Given the description of an element on the screen output the (x, y) to click on. 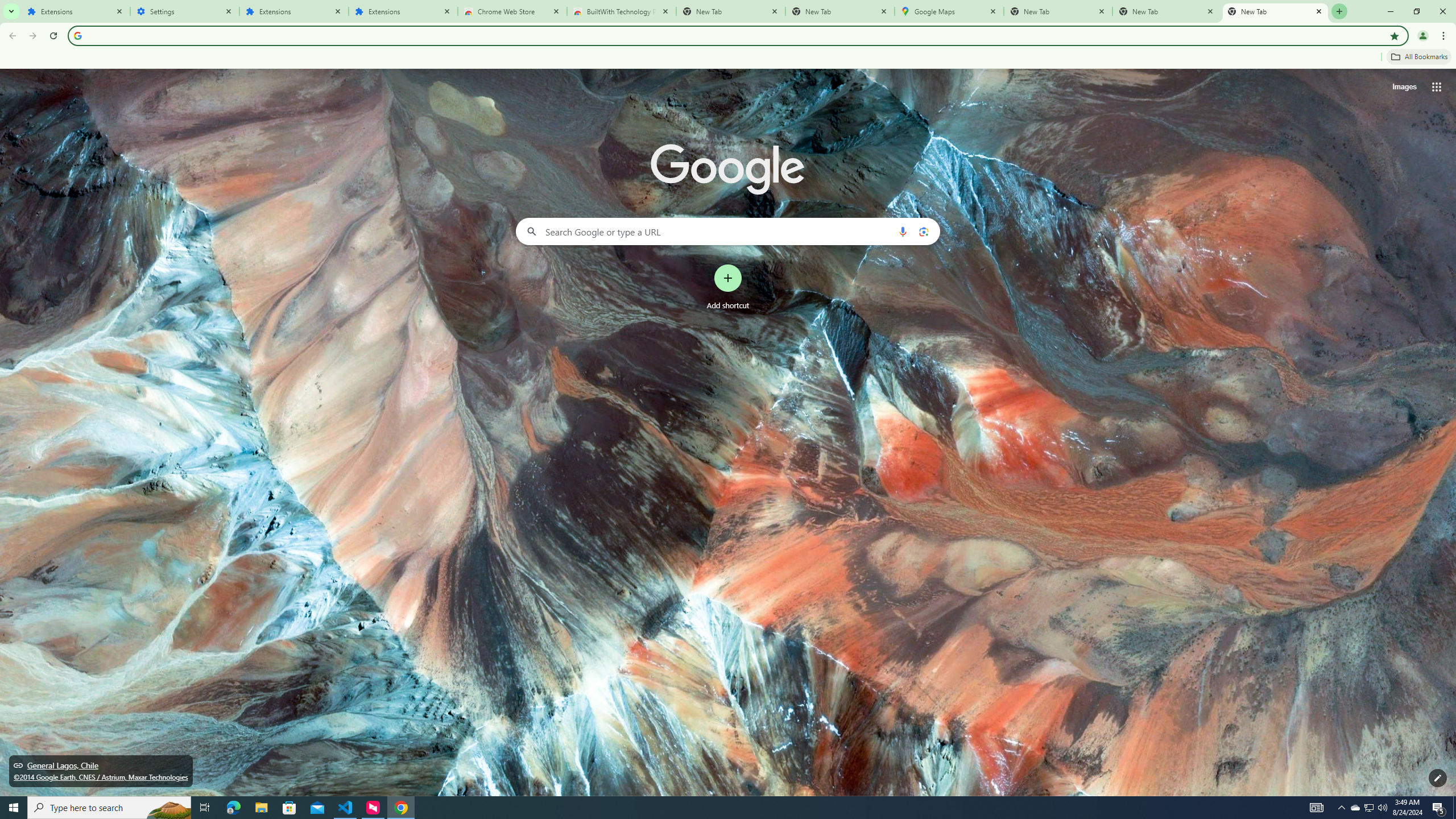
Extensions (75, 11)
Bookmarks (728, 58)
Search for Images  (1403, 87)
New Tab (839, 11)
Settings (184, 11)
